Given the description of an element on the screen output the (x, y) to click on. 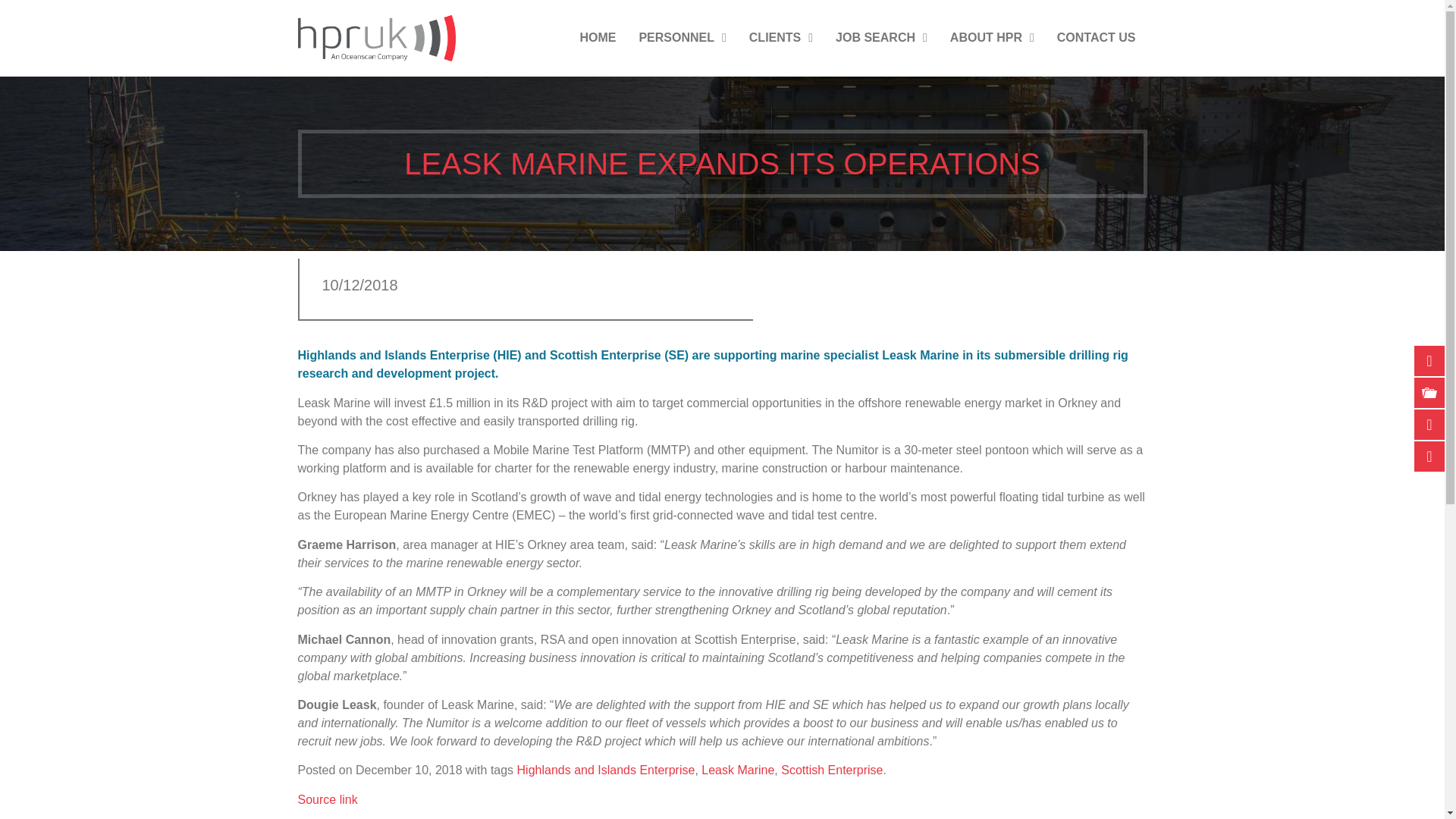
PERSONNEL (681, 37)
CONTACT US (1096, 37)
ABOUT HPR (992, 37)
JOB SEARCH (881, 37)
CLIENTS (781, 37)
HOME (597, 37)
